Given the description of an element on the screen output the (x, y) to click on. 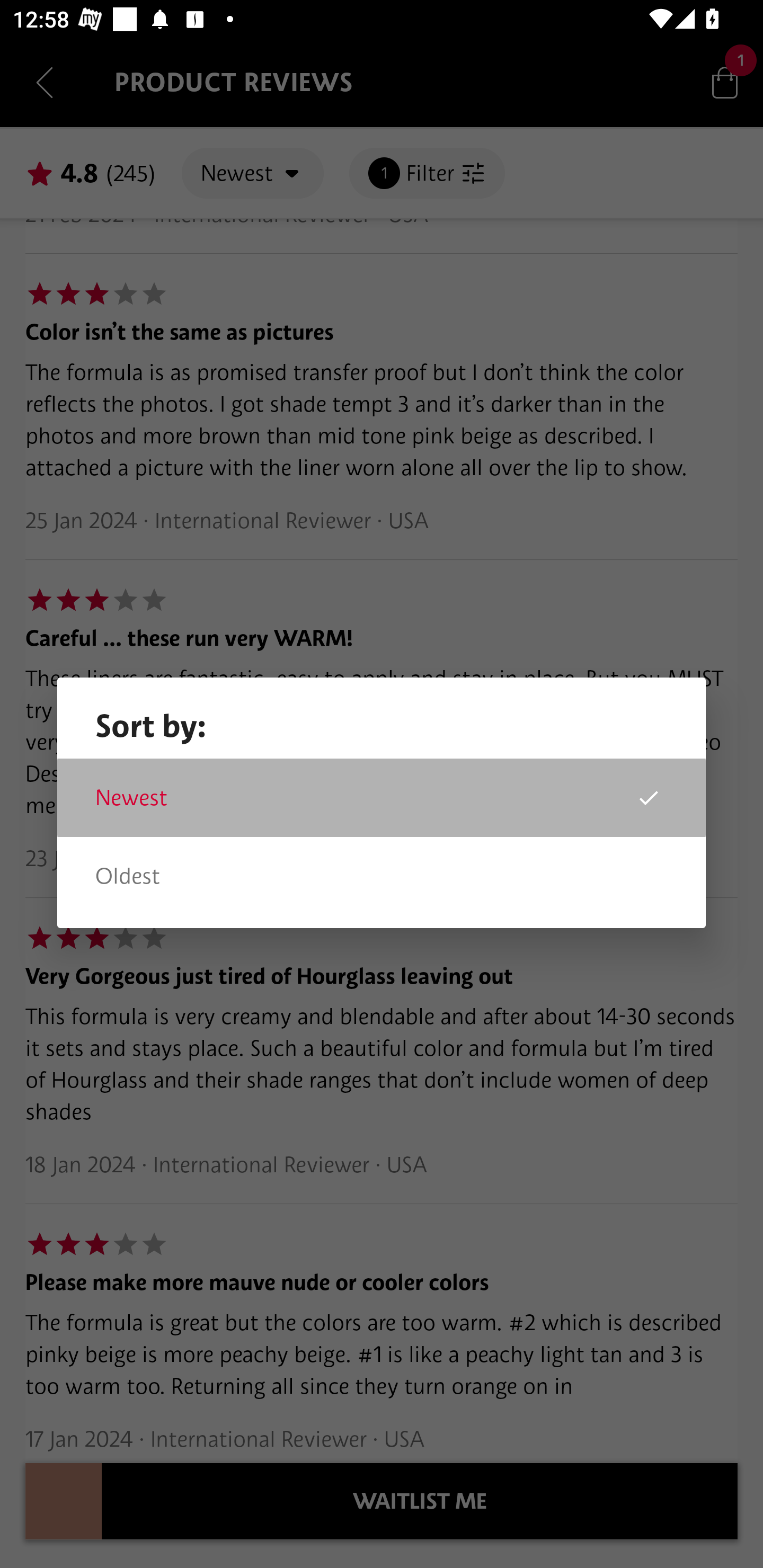
Newest (381, 797)
Oldest (381, 876)
